Given the description of an element on the screen output the (x, y) to click on. 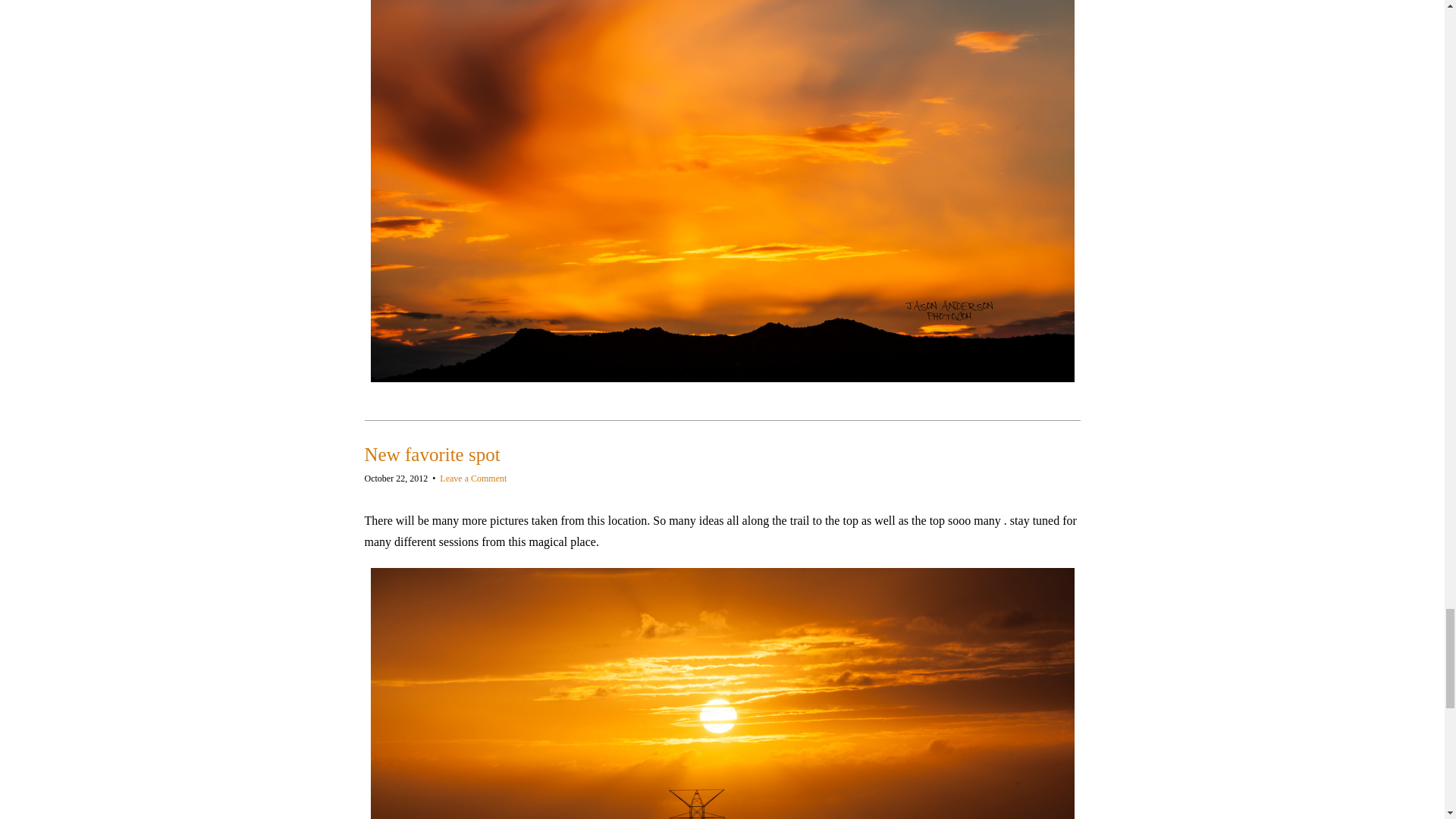
Leave a Comment (472, 478)
New favorite spot (431, 454)
